Given the description of an element on the screen output the (x, y) to click on. 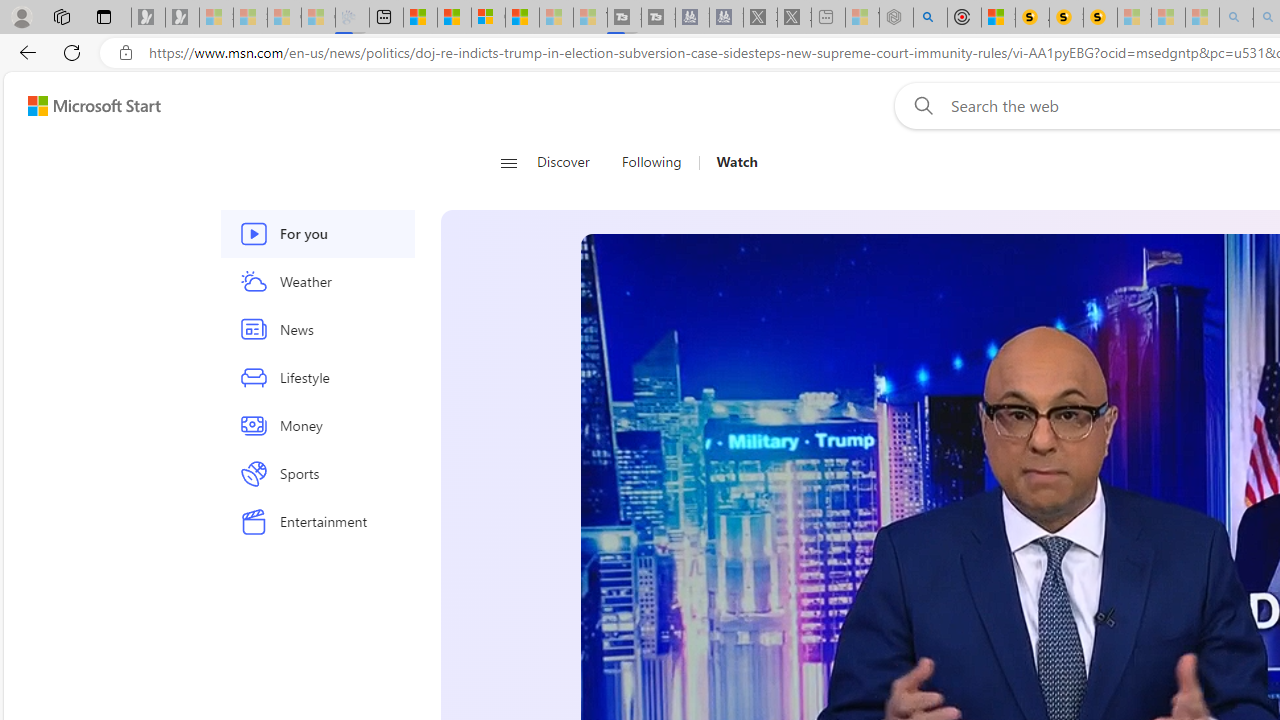
Skip to content (86, 105)
Web search (919, 105)
Overview (488, 17)
